Given the description of an element on the screen output the (x, y) to click on. 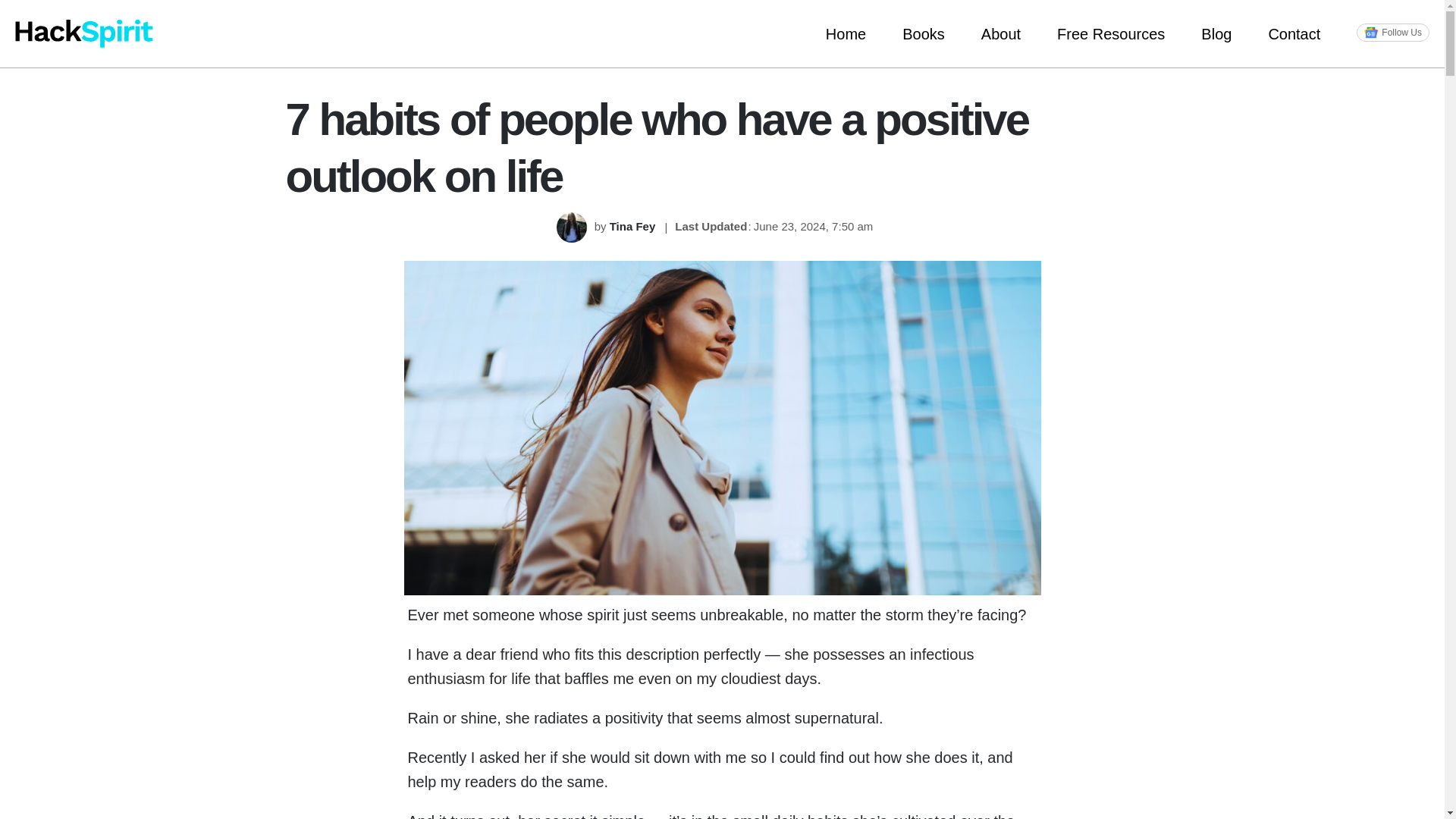
Posts by Tina Fey (634, 226)
Books (922, 33)
Home (845, 33)
About (1000, 33)
Blog (1215, 33)
Free Resources (1110, 33)
Contact (1293, 33)
